Given the description of an element on the screen output the (x, y) to click on. 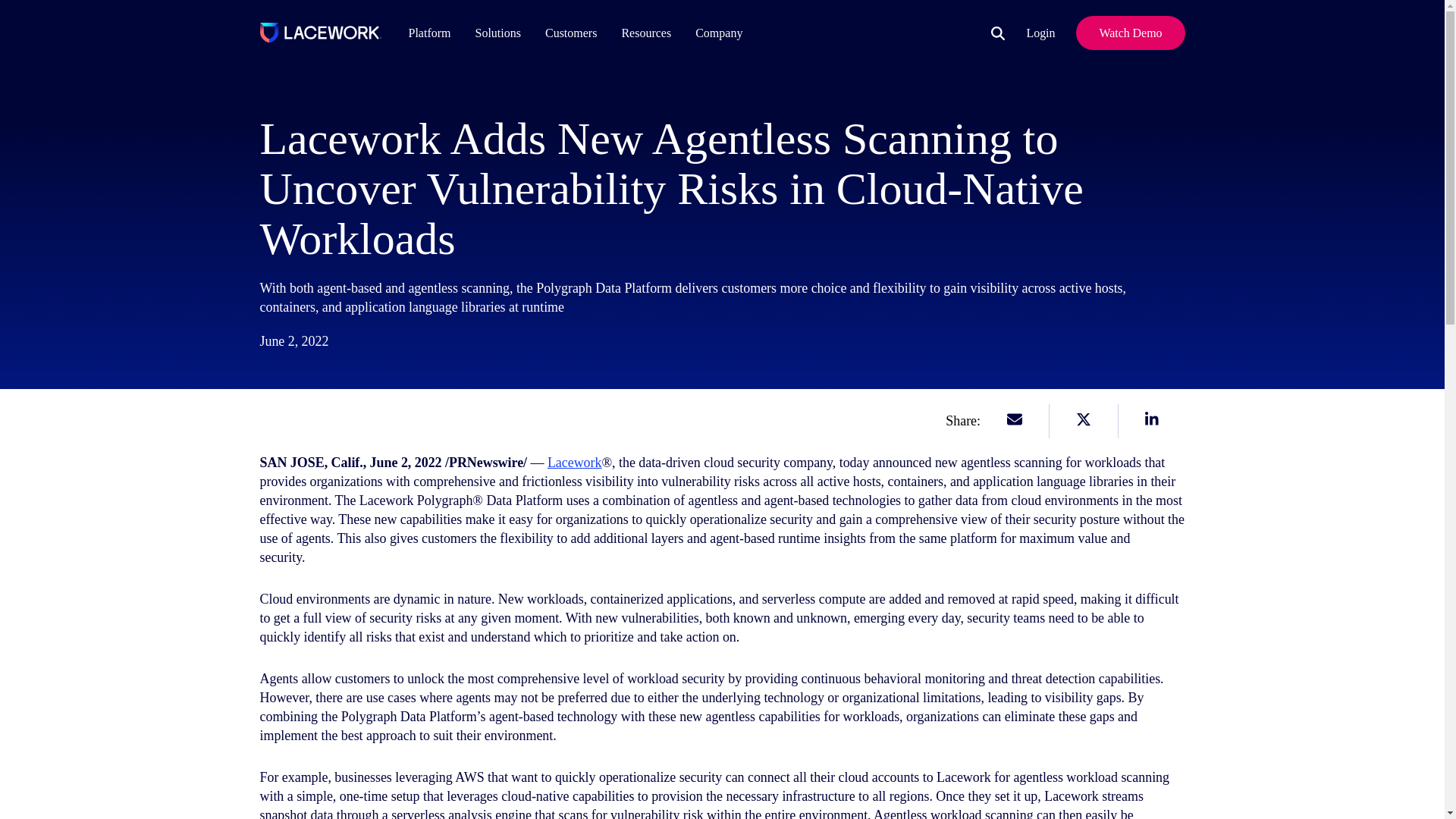
Customers (575, 32)
Solutions (570, 32)
Resources (497, 32)
Platform (645, 32)
